Given the description of an element on the screen output the (x, y) to click on. 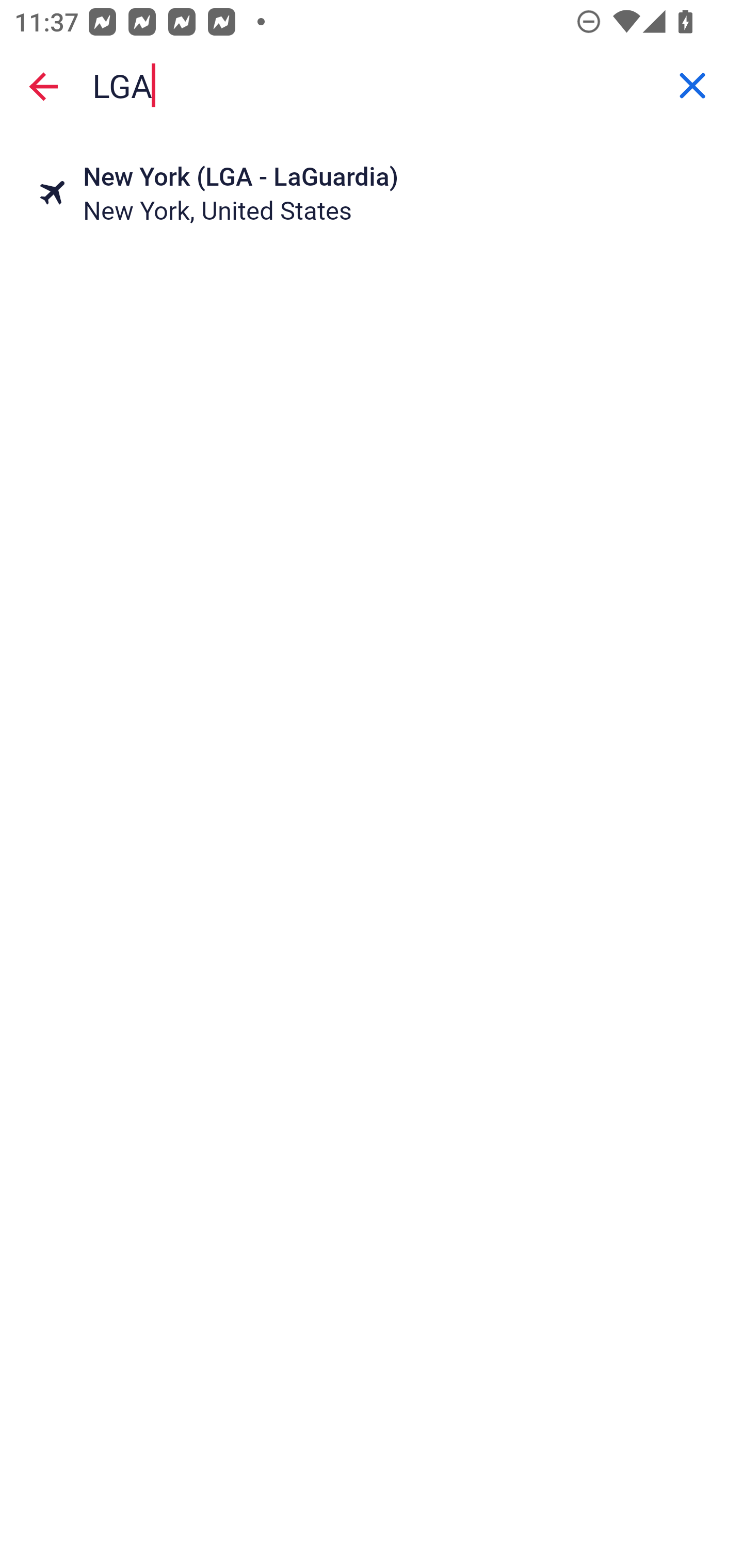
Clear Drop-off (692, 85)
Drop-off, LGA (371, 85)
Close search screen (43, 86)
